Given the description of an element on the screen output the (x, y) to click on. 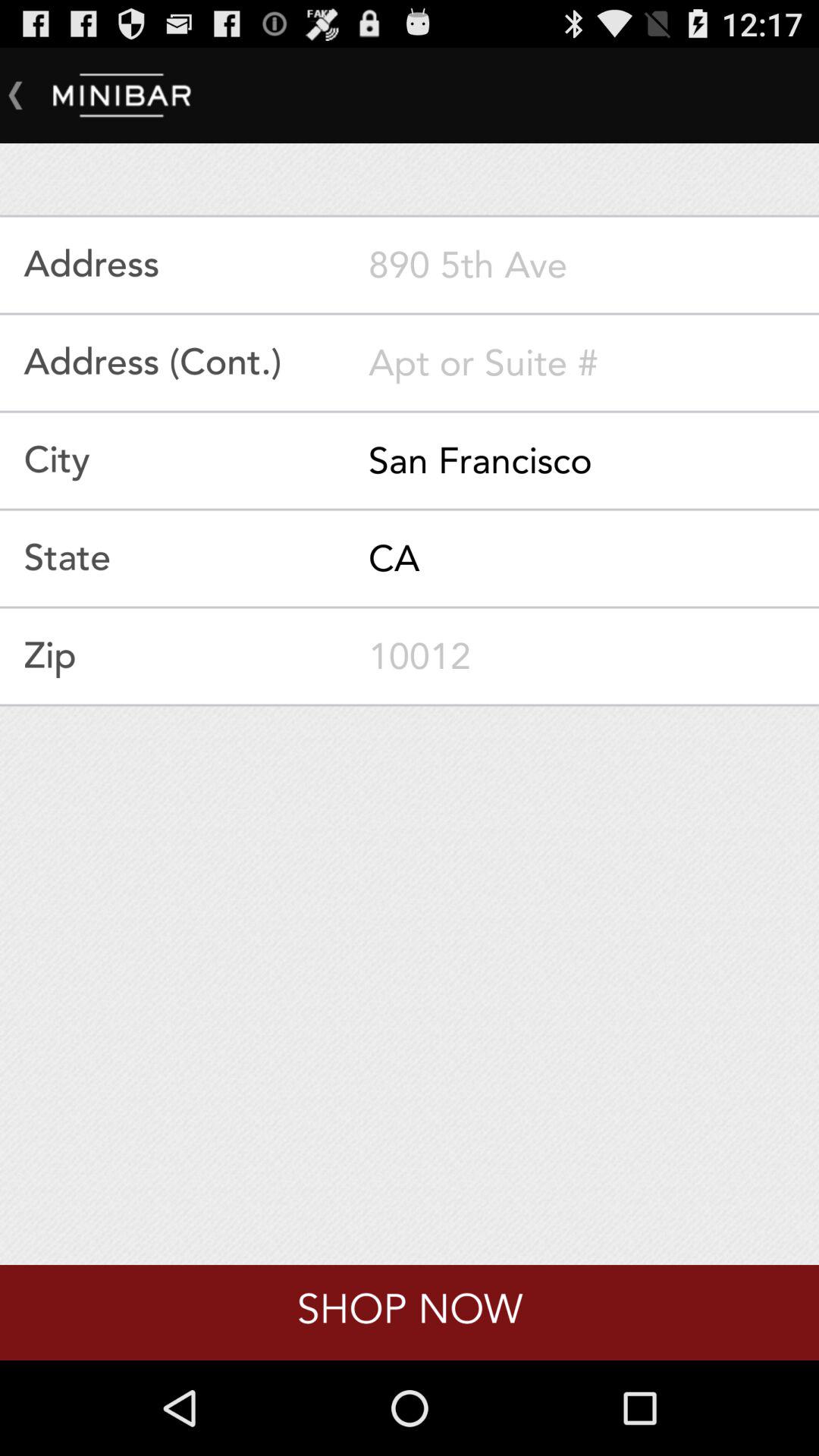
add apartment number or suite number to the address (593, 362)
